Given the description of an element on the screen output the (x, y) to click on. 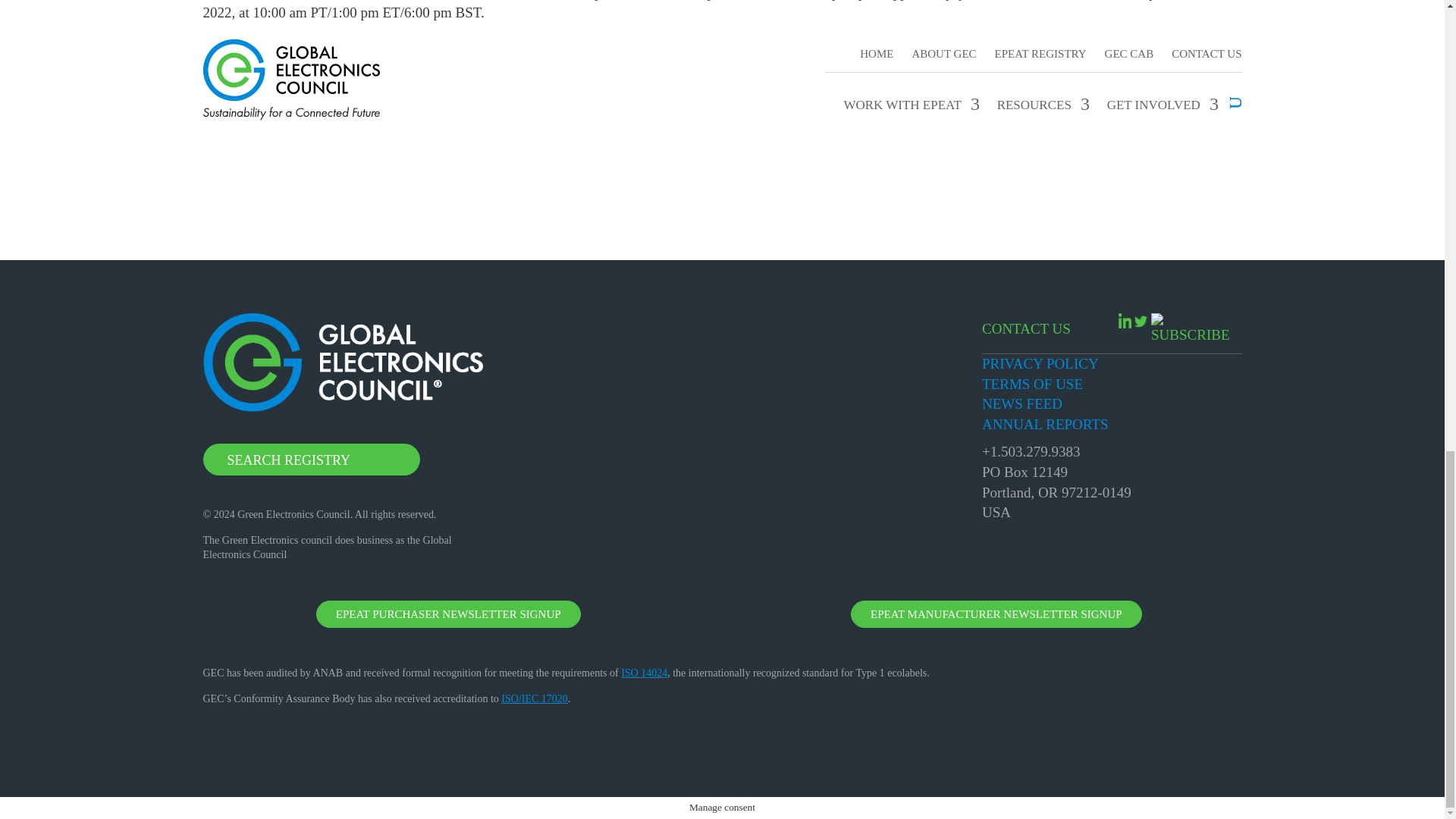
logo-02 (343, 361)
Register (721, 70)
CONTACT US (1025, 329)
SEARCH REGISTRY (311, 459)
